Given the description of an element on the screen output the (x, y) to click on. 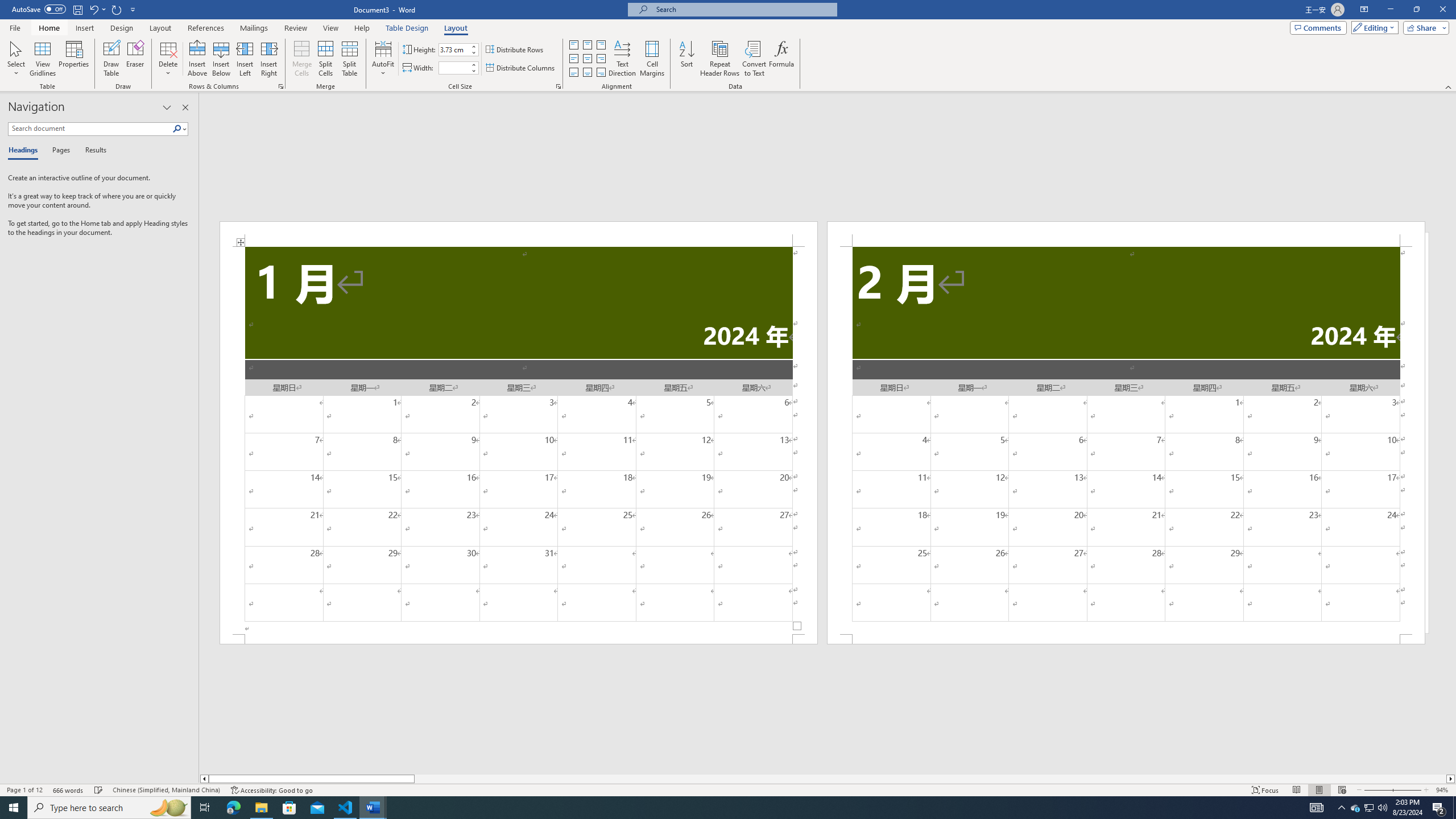
Align Top Right (601, 44)
Align Top Justified (573, 44)
Distribute Columns (521, 67)
Page 1 content (518, 439)
Repeat Header Rows (719, 58)
Align Center Right (601, 58)
